Given the description of an element on the screen output the (x, y) to click on. 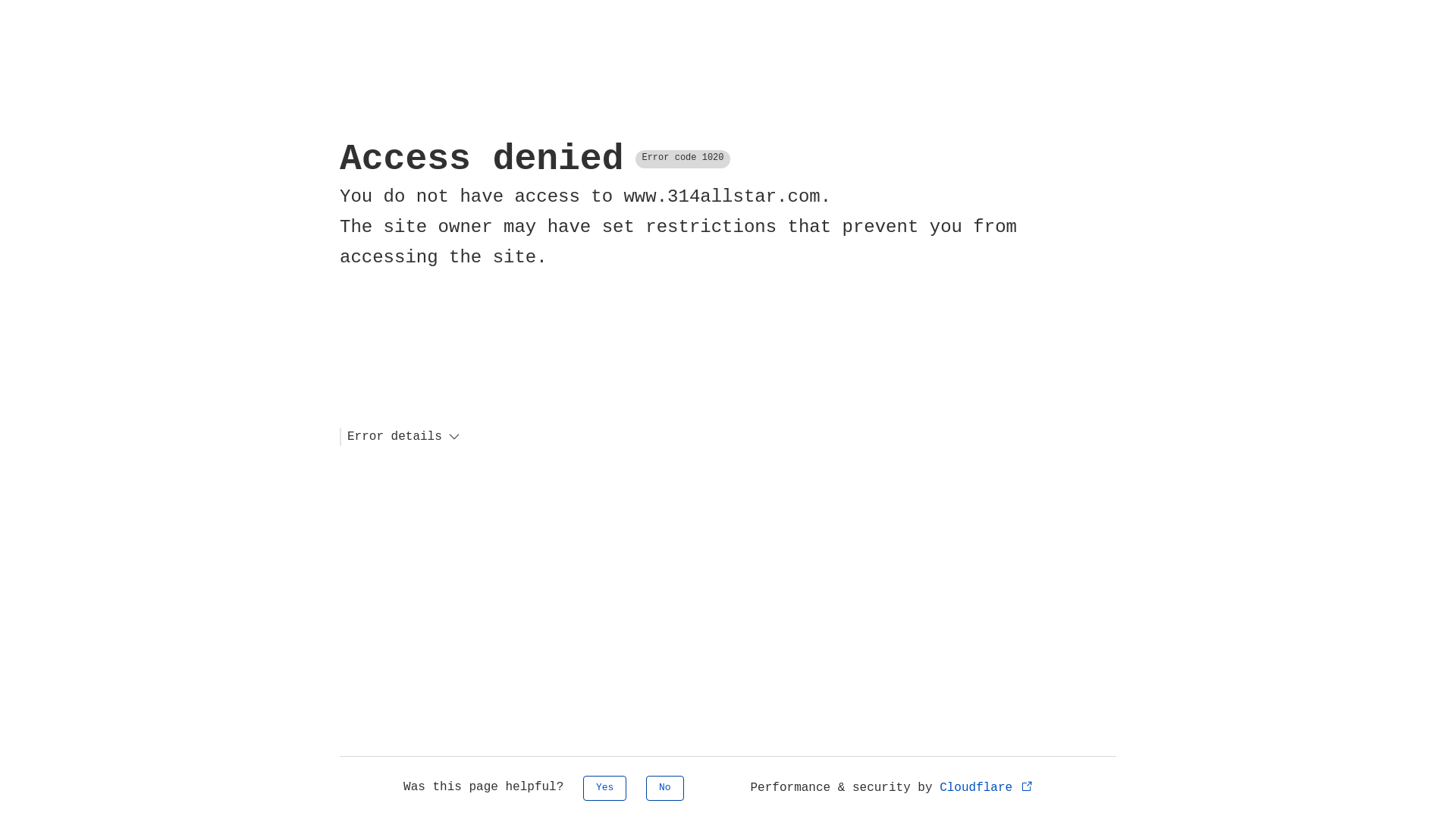
No Element type: text (665, 787)
Yes Element type: text (604, 787)
Cloudflare Element type: text (986, 787)
Opens in new tab Element type: hover (1027, 785)
